Given the description of an element on the screen output the (x, y) to click on. 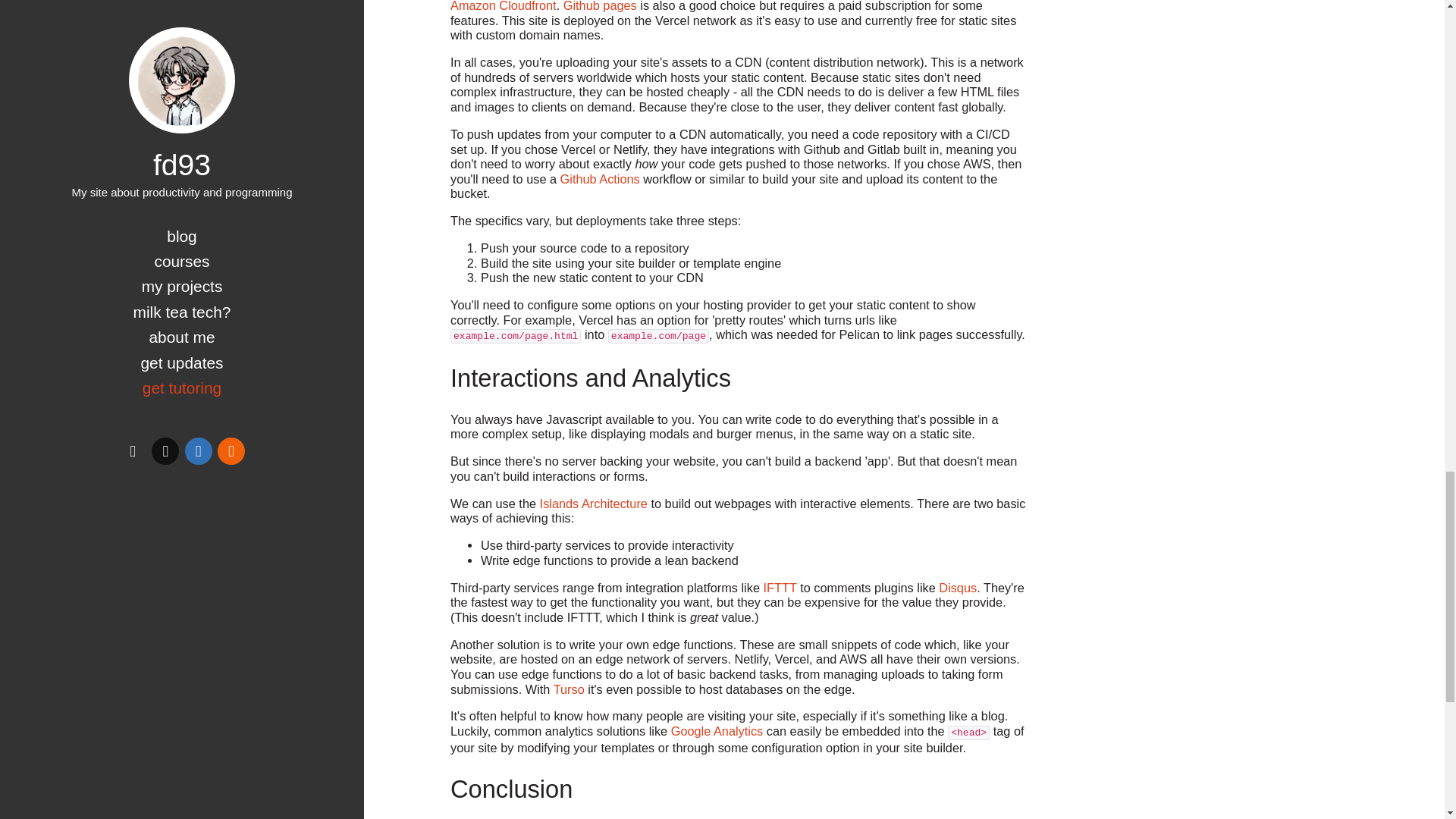
Github Actions (600, 178)
Google Analytics (716, 730)
Github pages (600, 6)
Disqus (957, 587)
Turso (569, 689)
IFTTT (779, 587)
Islands Architecture (593, 503)
AWS S3 buckets via Amazon Cloudfront (731, 6)
